Given the description of an element on the screen output the (x, y) to click on. 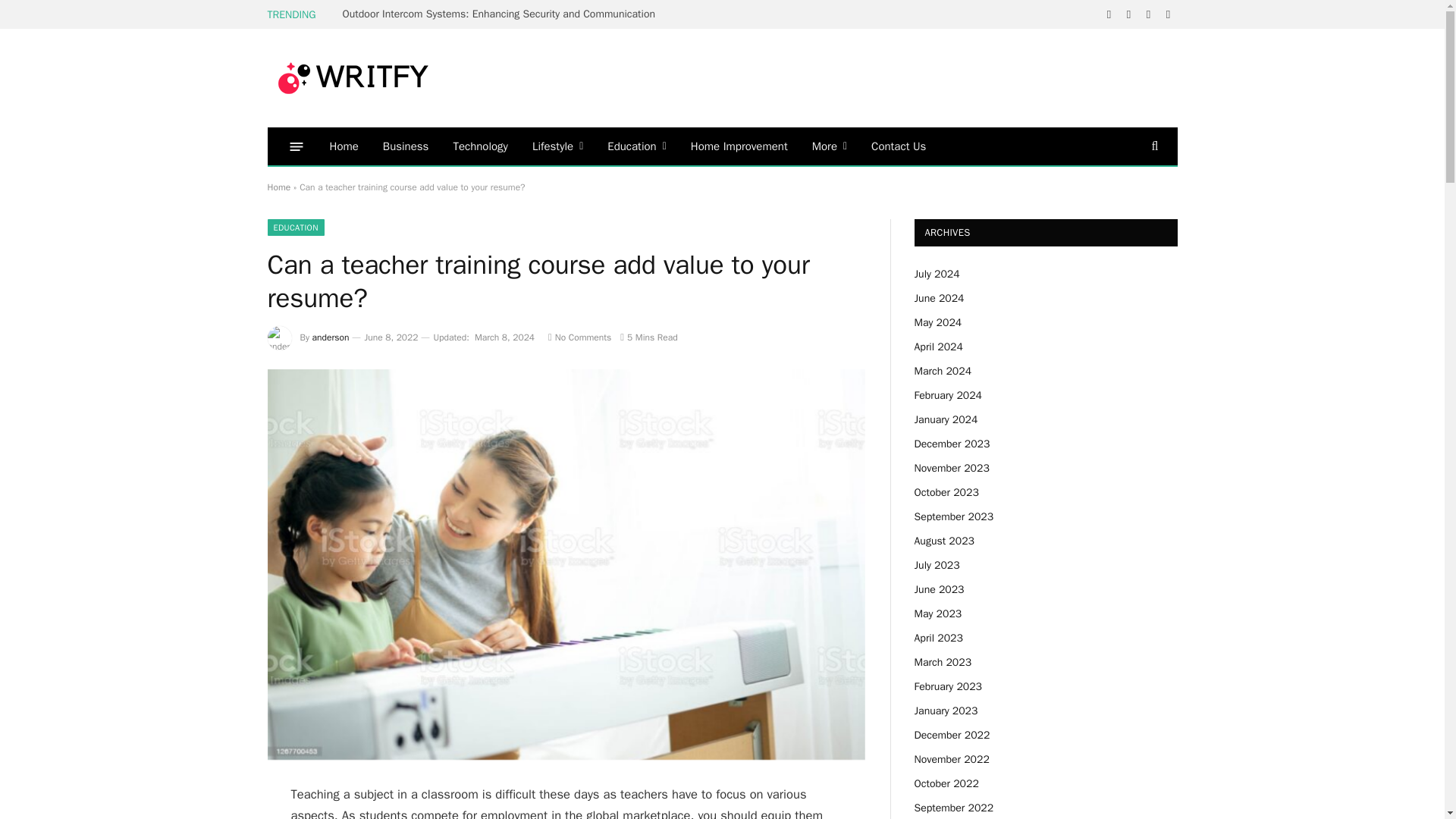
Business (406, 146)
Writfy (350, 78)
Education (636, 146)
Posts by anderson (331, 337)
Lifestyle (557, 146)
Home (343, 146)
Technology (480, 146)
